Given the description of an element on the screen output the (x, y) to click on. 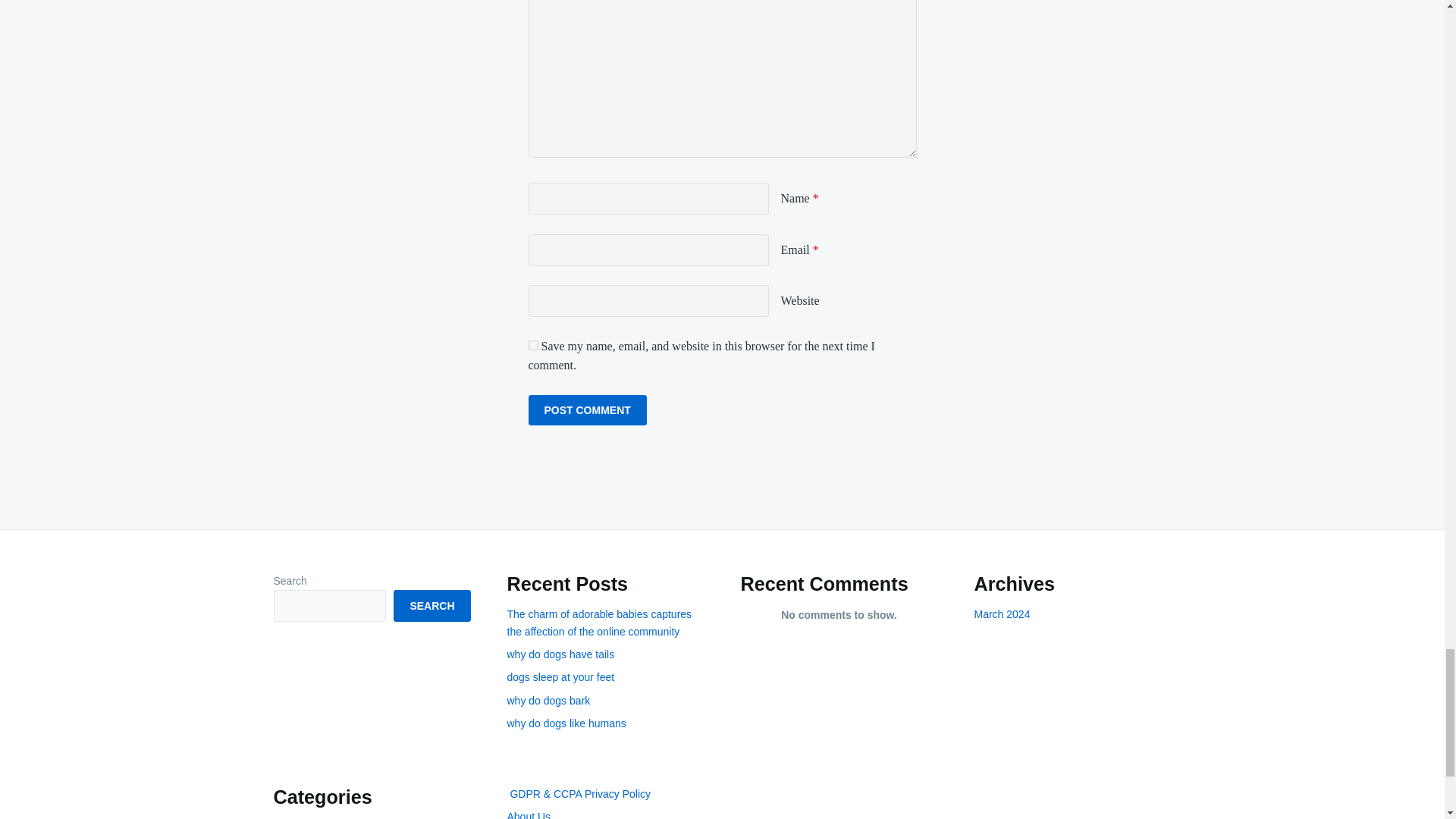
SEARCH (431, 605)
Post Comment (586, 409)
Post Comment (586, 409)
About Us (528, 814)
yes (532, 345)
why do dogs have tails (560, 654)
why do dogs bark (547, 700)
dogs sleep at your feet (560, 676)
why do dogs like humans (566, 723)
March 2024 (1001, 613)
